Given the description of an element on the screen output the (x, y) to click on. 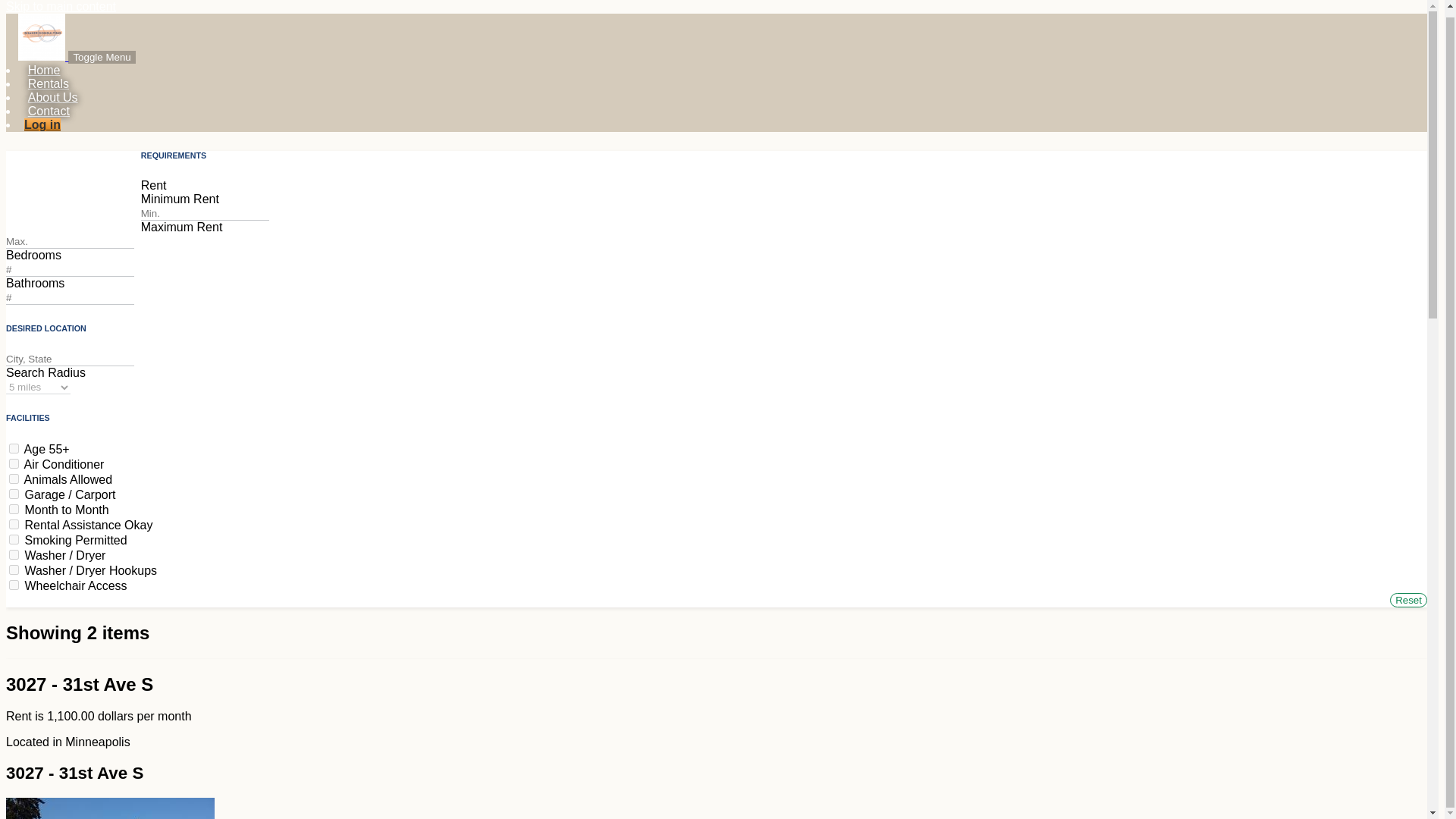
Log in (42, 124)
1 (13, 479)
search (21, 4)
About Us (52, 97)
1 (13, 539)
1 (13, 584)
Rentals (47, 83)
Skip to main content (60, 6)
1 (13, 554)
Contact (48, 110)
1 (13, 524)
1 (13, 493)
1 Bedroom 2 (78, 209)
1 (13, 448)
Home (43, 69)
